Given the description of an element on the screen output the (x, y) to click on. 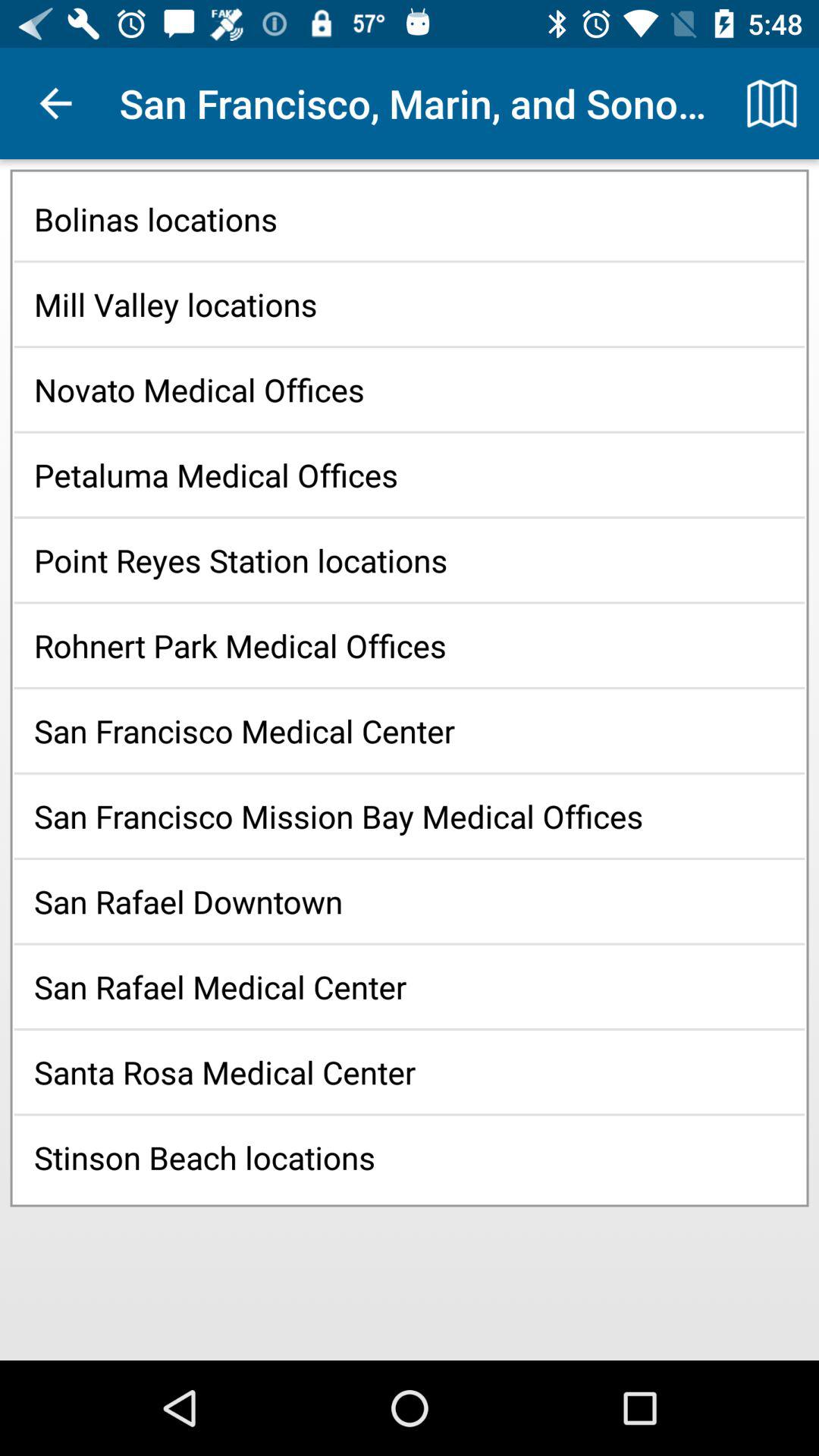
click icon above bolinas locations icon (771, 103)
